Given the description of an element on the screen output the (x, y) to click on. 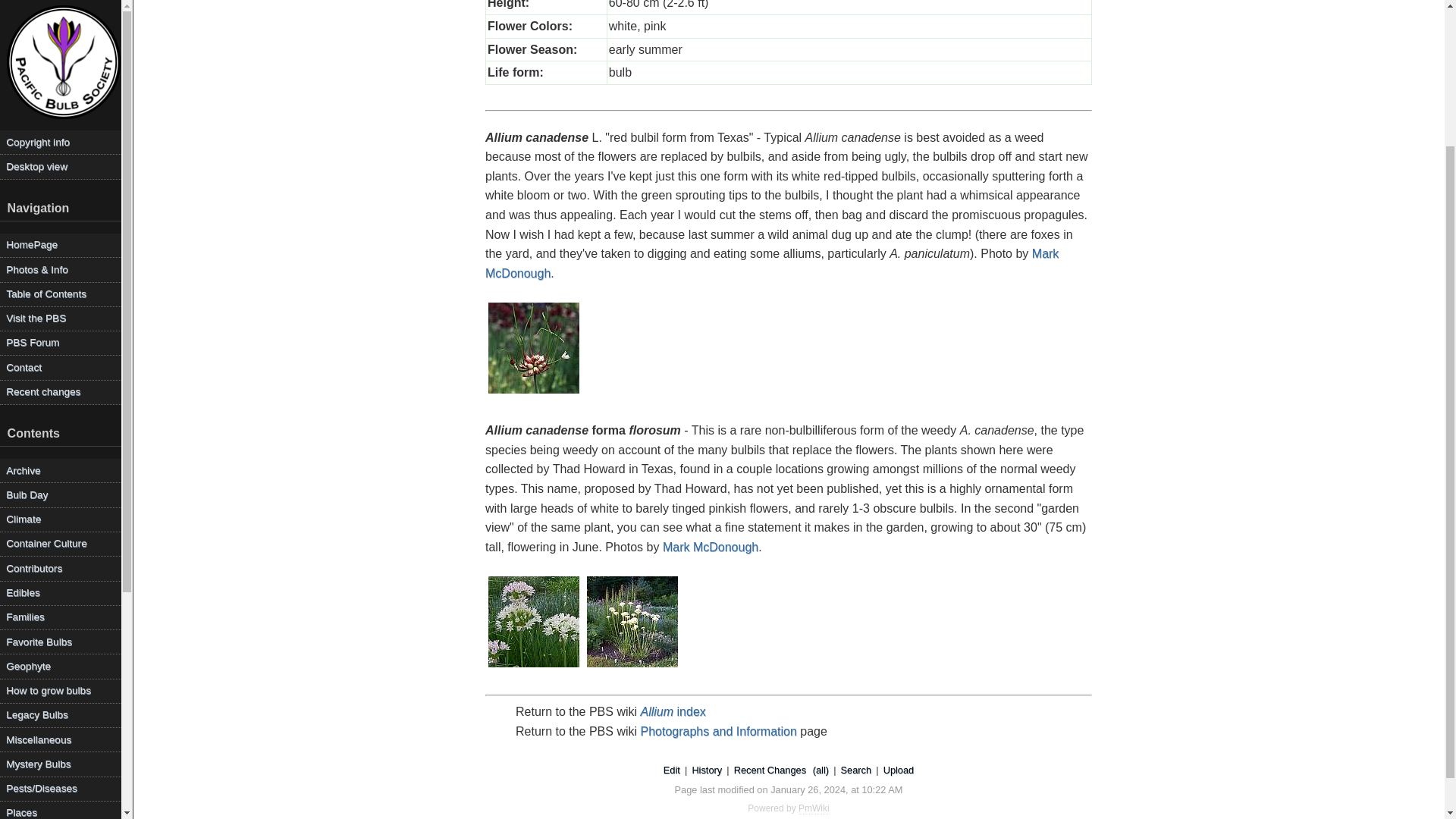
Visit the PBS (60, 143)
Contributors (60, 392)
pmwiki.org (813, 808)
PBS Forum (60, 167)
Desktop view (60, 1)
Photographs and Information (718, 730)
Table of Contents (60, 119)
Allium canadense forma florosum, Mark McDonough (533, 621)
Container Culture (60, 368)
Mark McDonough (710, 546)
